Given the description of an element on the screen output the (x, y) to click on. 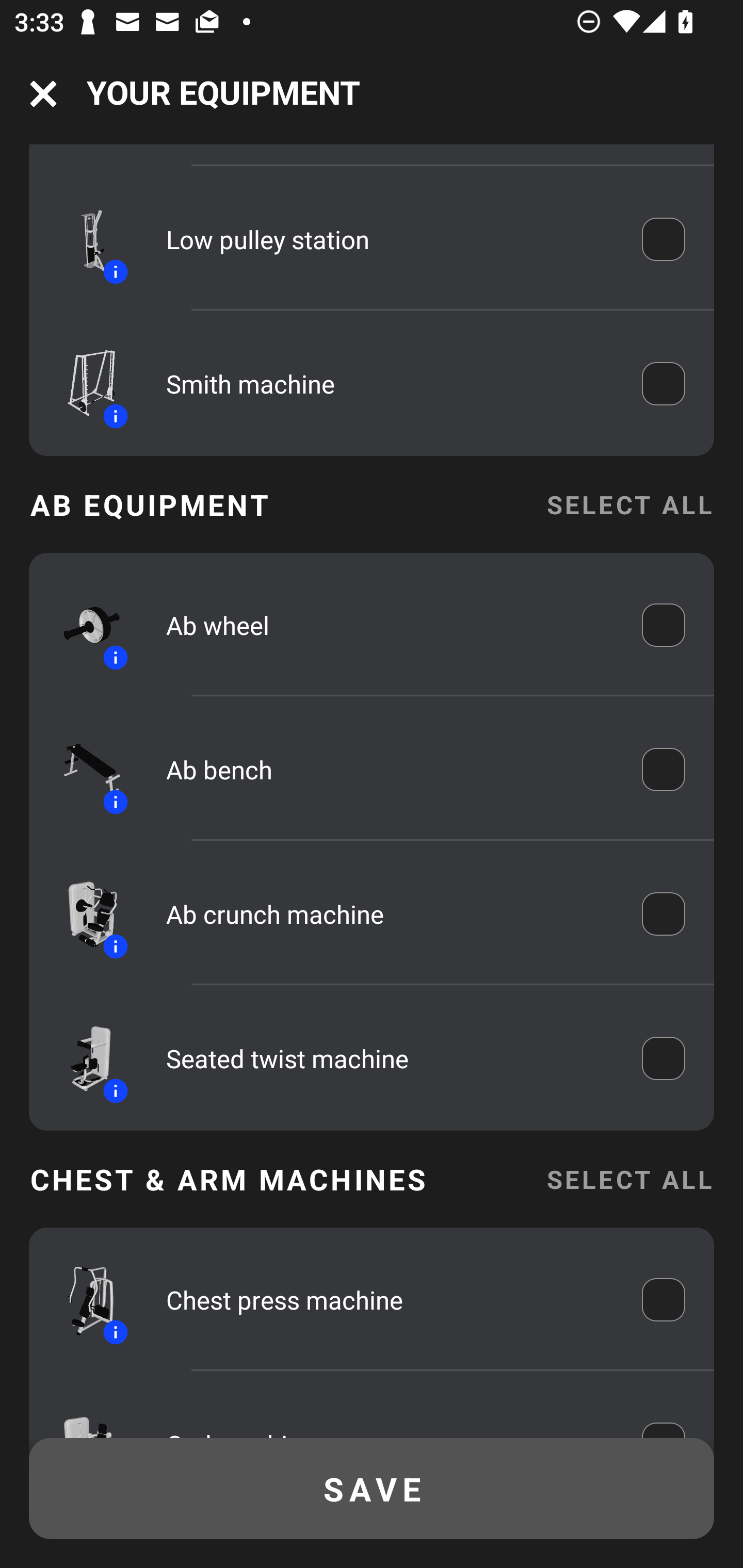
Navigation icon (43, 93)
Equipment icon Information icon (82, 239)
Low pulley station (389, 239)
Equipment icon Information icon (82, 383)
Smith machine (389, 383)
SELECT ALL (629, 503)
Equipment icon Information icon (82, 624)
Ab wheel (389, 624)
Equipment icon Information icon (82, 769)
Ab bench (389, 768)
Equipment icon Information icon (82, 913)
Ab crunch machine (389, 914)
Equipment icon Information icon (82, 1058)
Seated twist machine (389, 1058)
SELECT ALL (629, 1179)
Equipment icon Information icon (82, 1298)
Chest press machine (389, 1299)
SAVE (371, 1488)
